Given the description of an element on the screen output the (x, y) to click on. 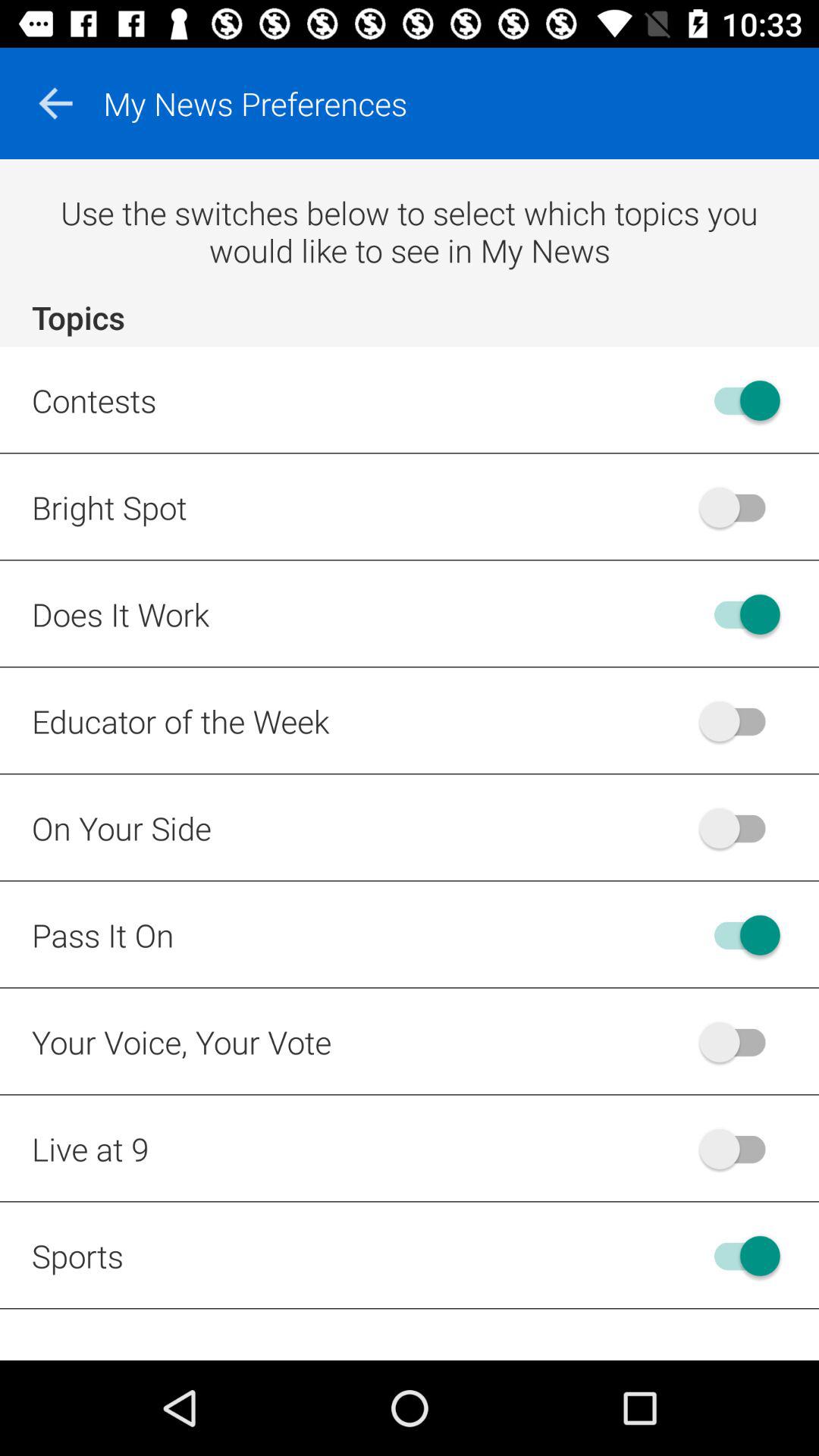
go to previous (55, 103)
